Given the description of an element on the screen output the (x, y) to click on. 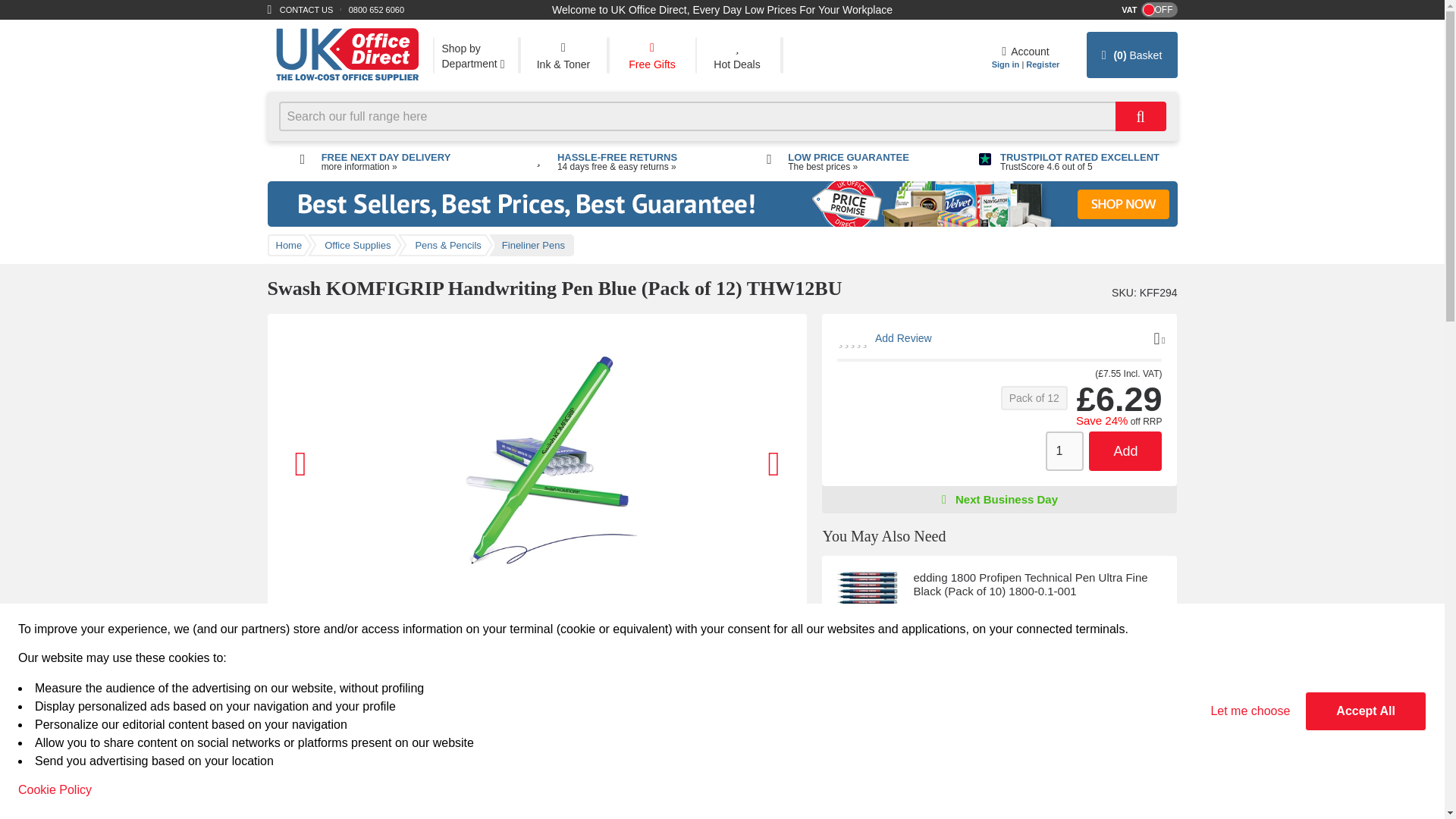
Let me choose (1249, 711)
1 (1097, 789)
Free Gifts (652, 55)
0800 652 6060 (376, 9)
1 (1097, 650)
Cookie Policy (54, 789)
Accept All (1365, 711)
CONTACT US (306, 9)
0800 652 6060 (376, 9)
Shop by Department (474, 55)
Stock-Keeping Unit (1123, 292)
Free Gifts (652, 55)
Hot Deals (736, 55)
Search (1140, 116)
Browse for products (474, 55)
